Given the description of an element on the screen output the (x, y) to click on. 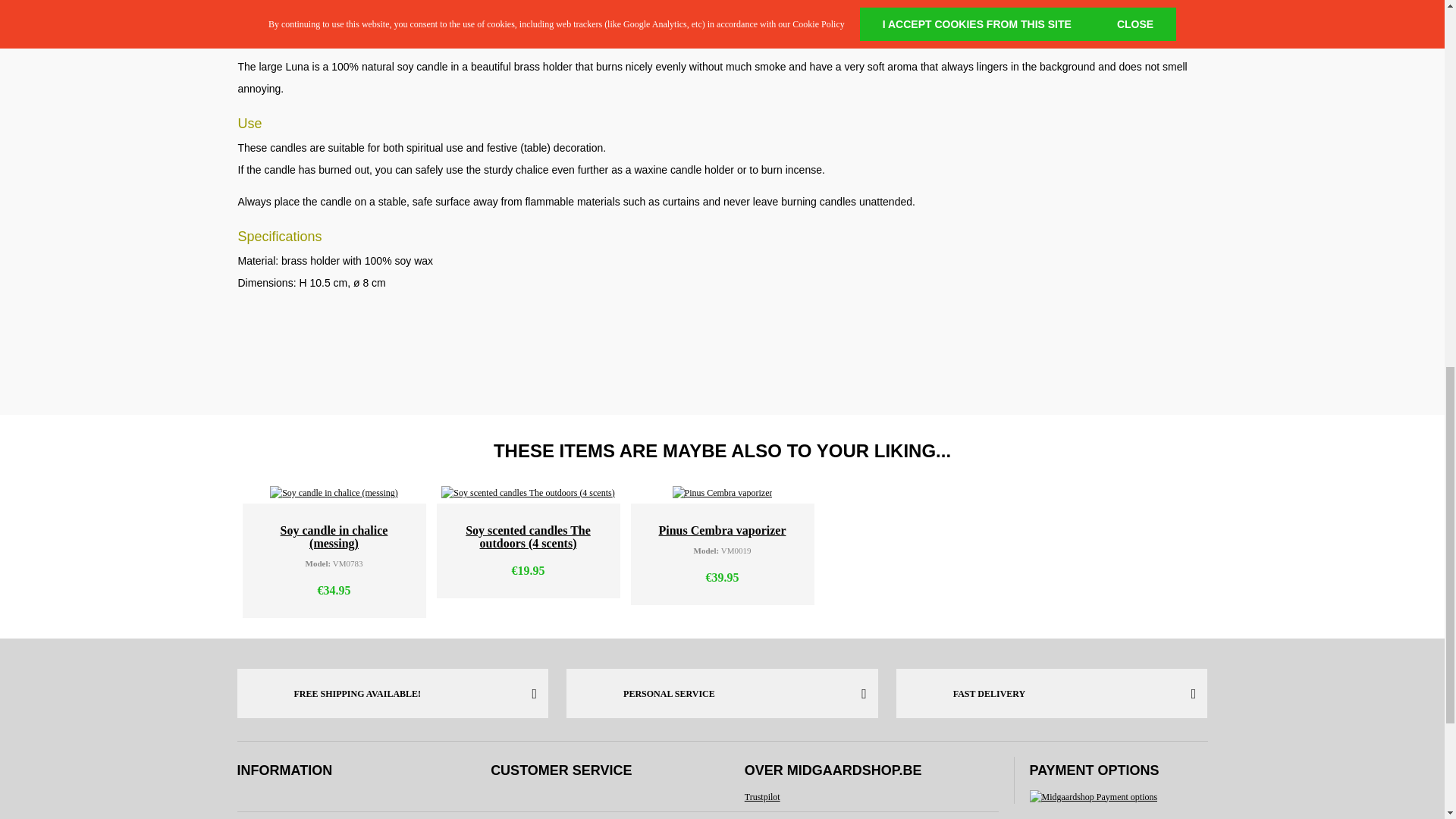
Pinus Cembra aromaverspreider (722, 492)
All our payment options (1093, 796)
